Given the description of an element on the screen output the (x, y) to click on. 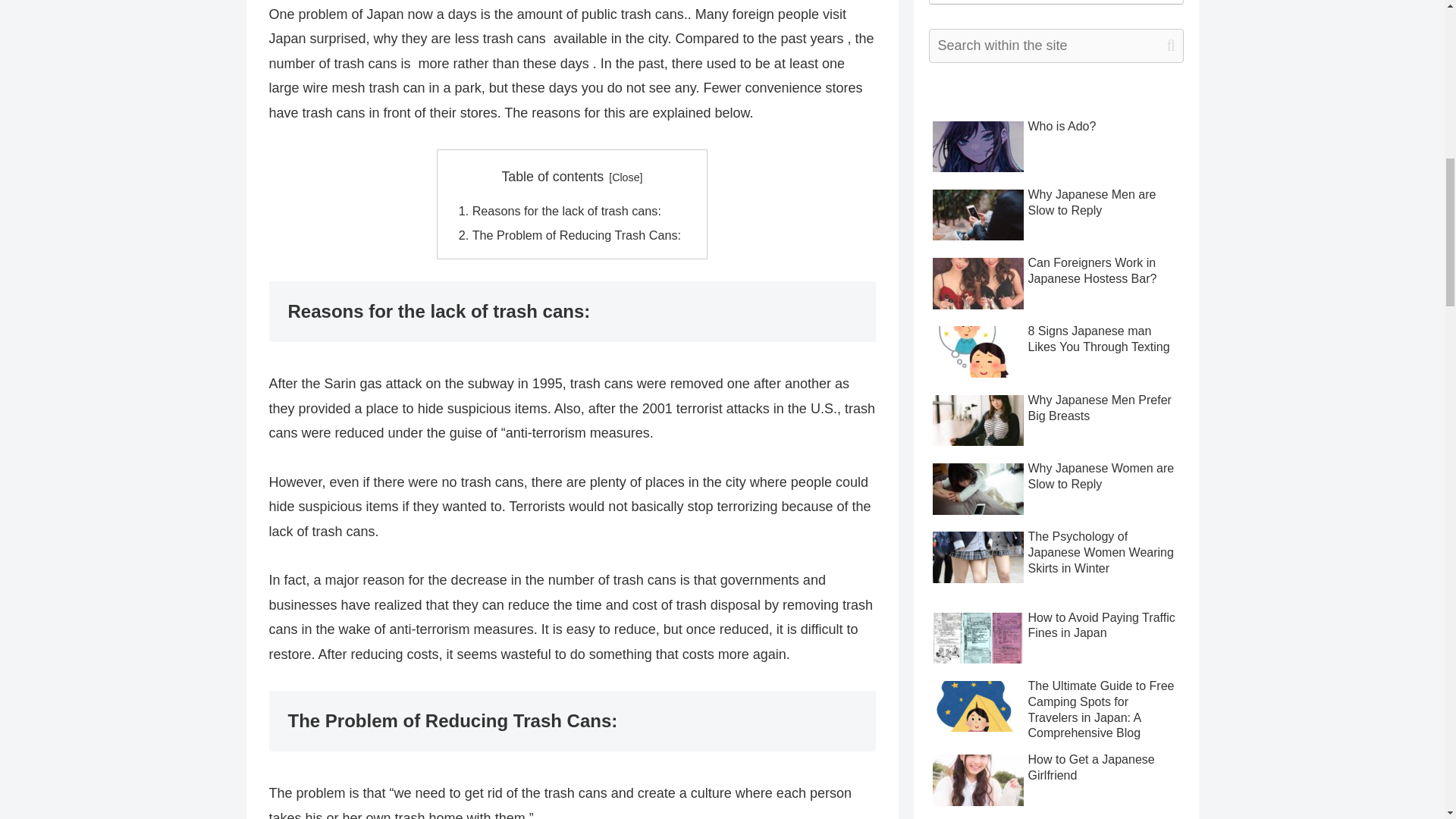
The Problem of Reducing Trash Cans:  (577, 234)
Reasons for the lack of trash cans:  (568, 210)
